Given the description of an element on the screen output the (x, y) to click on. 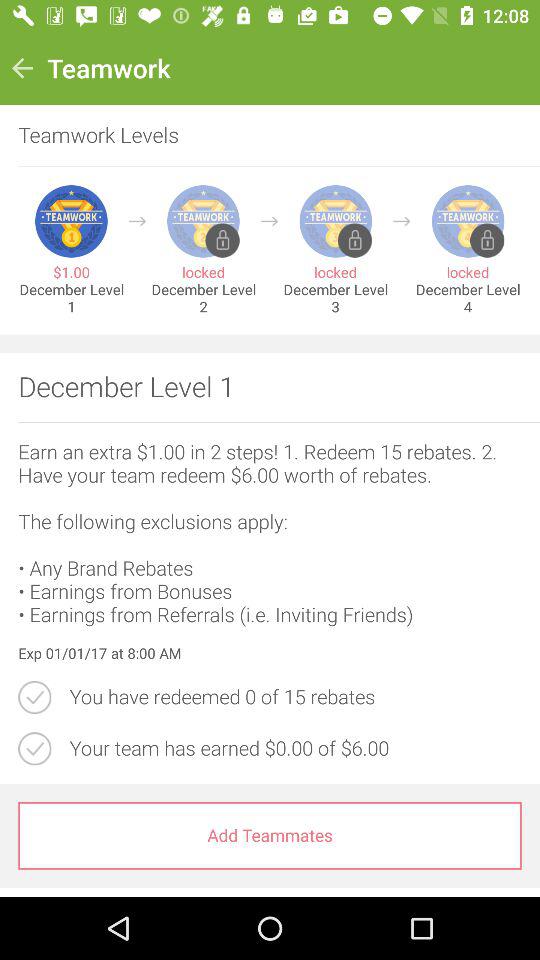
click item above the december level 3 item (401, 221)
